Given the description of an element on the screen output the (x, y) to click on. 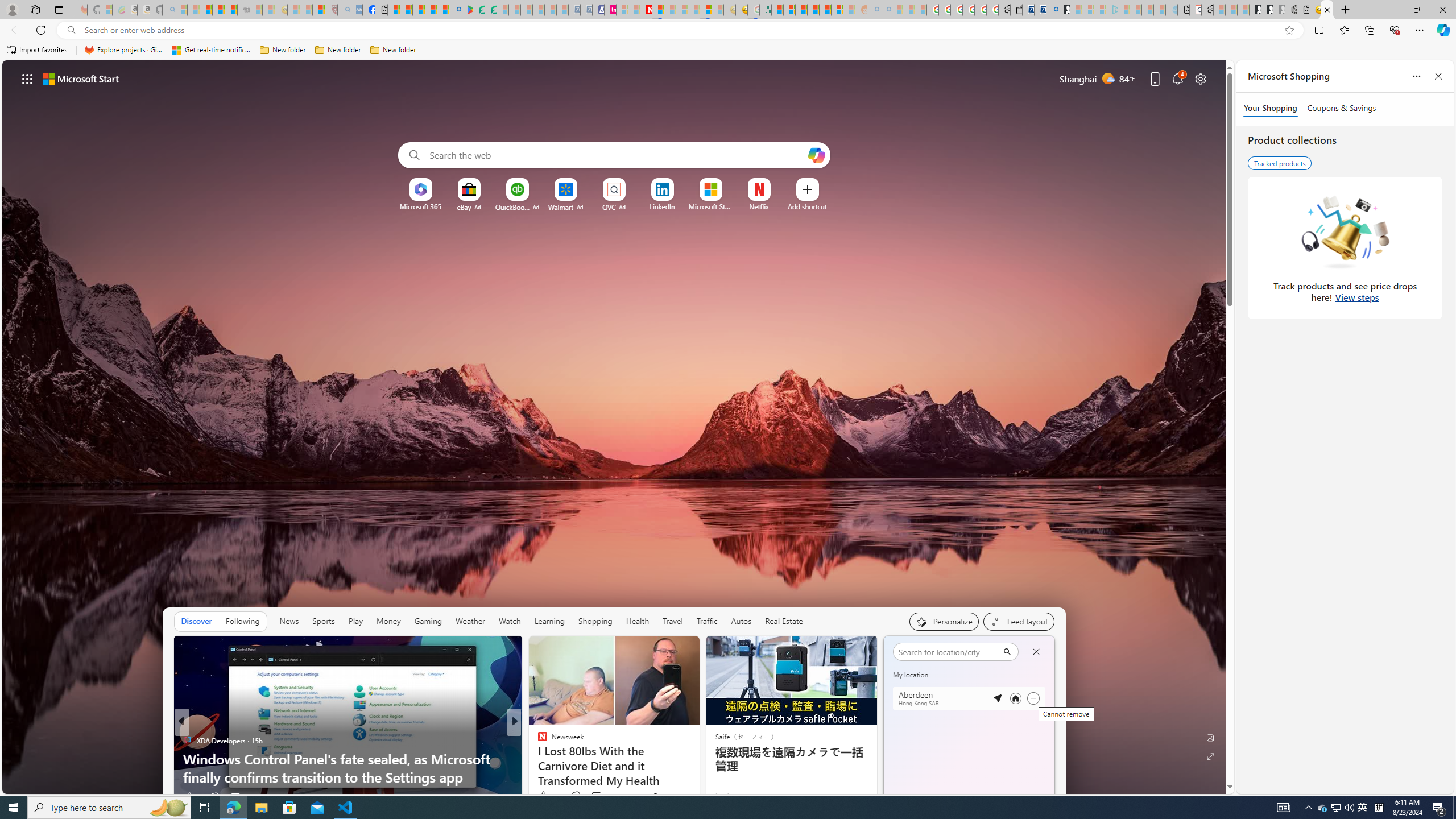
Mostly sunny (904, 678)
LinkedIn (662, 206)
245 Like (545, 796)
Tastes Delicious (537, 740)
Kinda Frugal - MSN (824, 9)
